Given the description of an element on the screen output the (x, y) to click on. 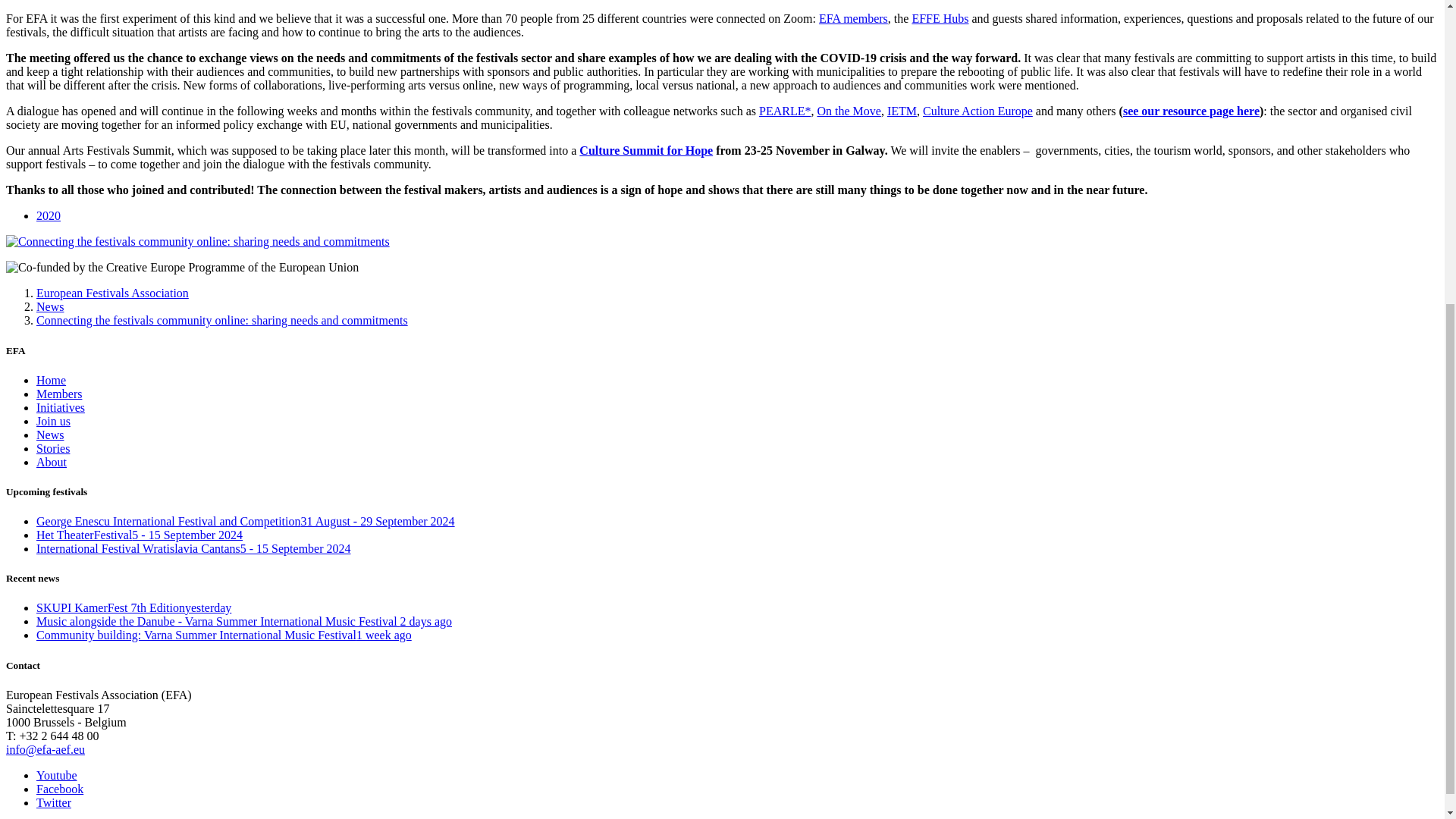
News (50, 306)
2020 (48, 215)
Members (58, 393)
About (51, 461)
Home (50, 379)
On the Move (848, 110)
Initiatives (60, 407)
EFFE Hubs (939, 18)
European Festivals Association (112, 292)
